Given the description of an element on the screen output the (x, y) to click on. 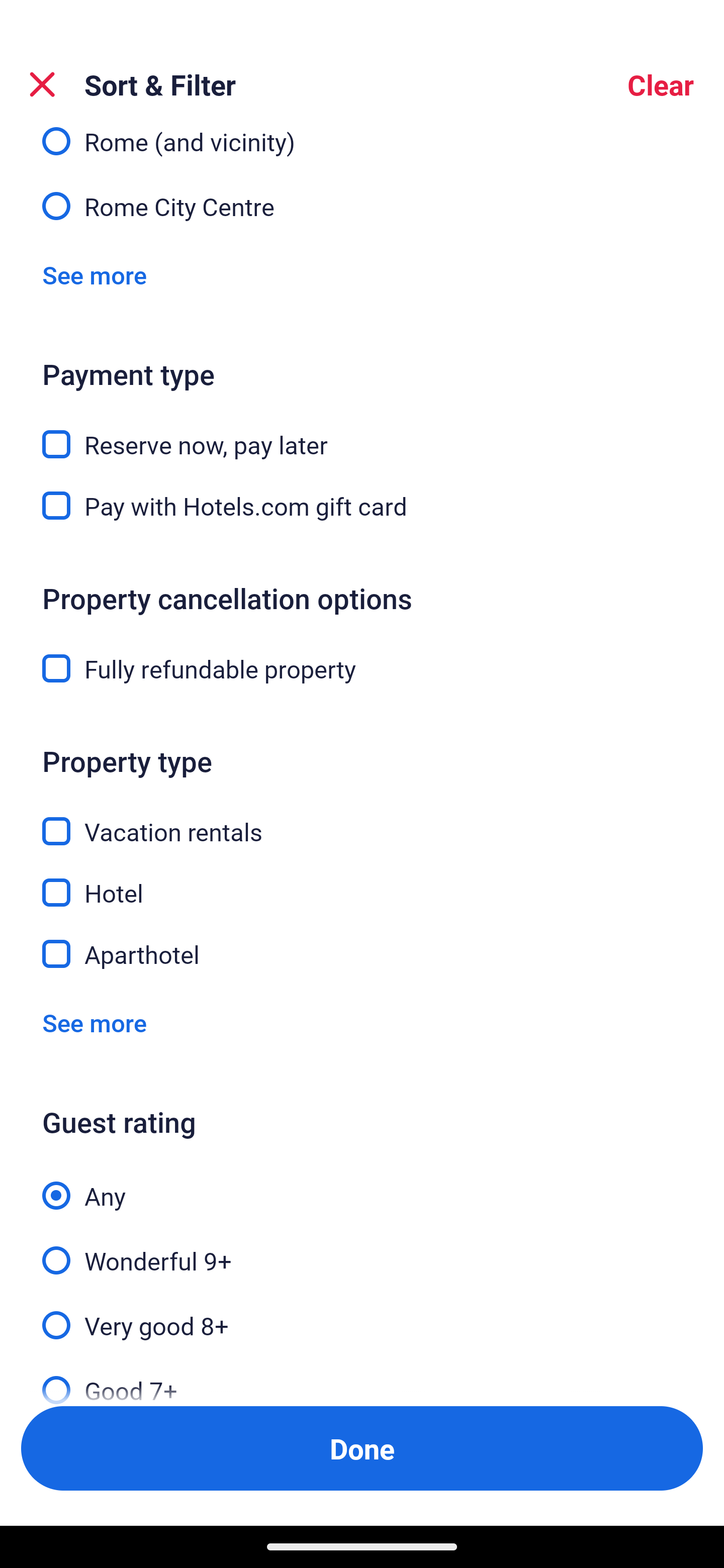
Close Sort and Filter (42, 84)
Clear (660, 84)
Rome (and vicinity) (361, 145)
Rome City Centre (361, 205)
See more See more neighborhoods Link (93, 274)
Reserve now, pay later, Reserve now, pay later (361, 433)
Vacation rentals, Vacation rentals (361, 820)
Hotel, Hotel (361, 881)
Aparthotel, Aparthotel (361, 954)
See more See more property types Link (93, 1022)
Wonderful 9+ (361, 1249)
Very good 8+ (361, 1314)
Good 7+ (361, 1376)
Apply and close Sort and Filter Done (361, 1448)
